Given the description of an element on the screen output the (x, y) to click on. 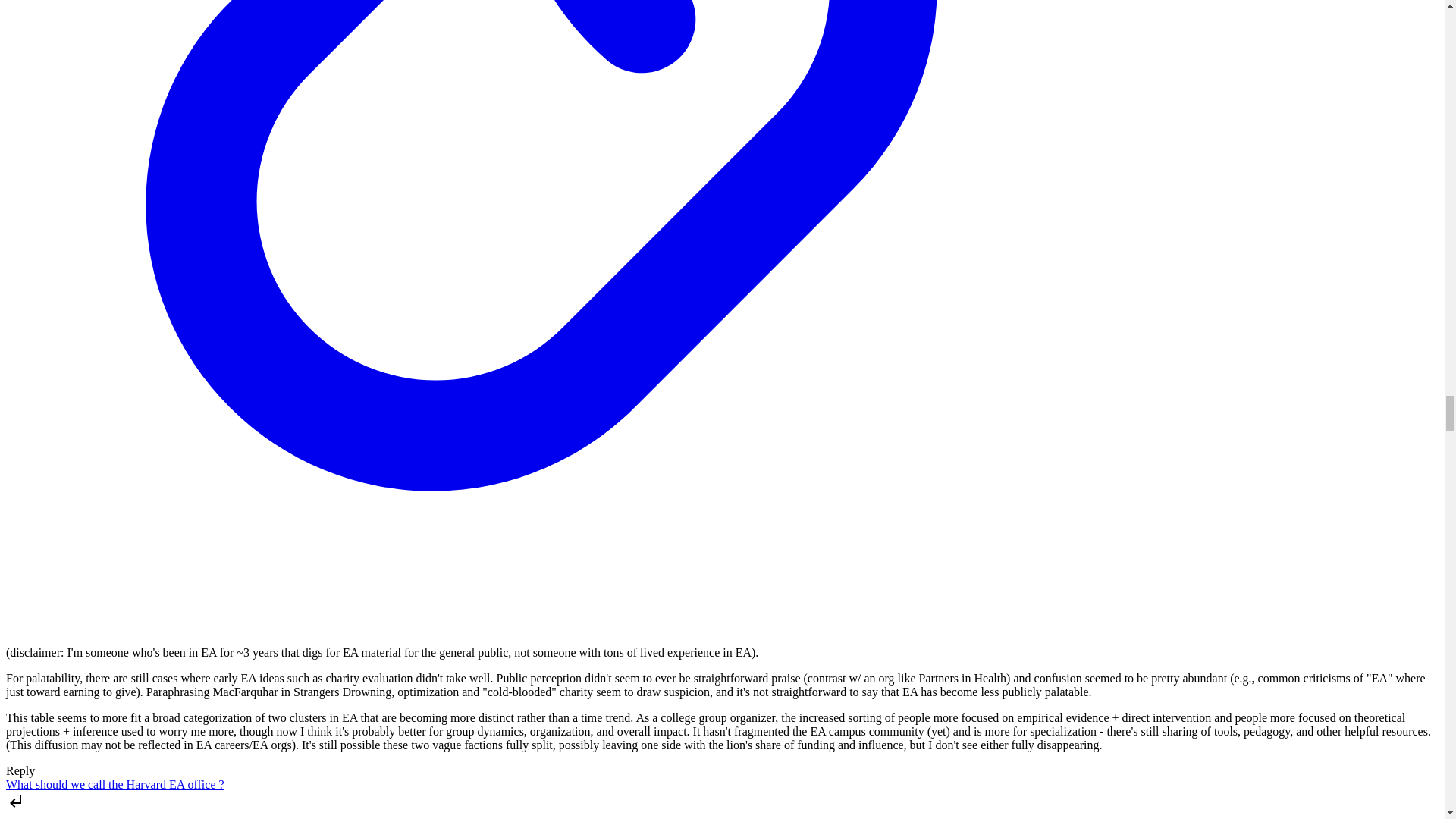
Reply (19, 770)
What should we call the Harvard EA office ? (114, 784)
